Given the description of an element on the screen output the (x, y) to click on. 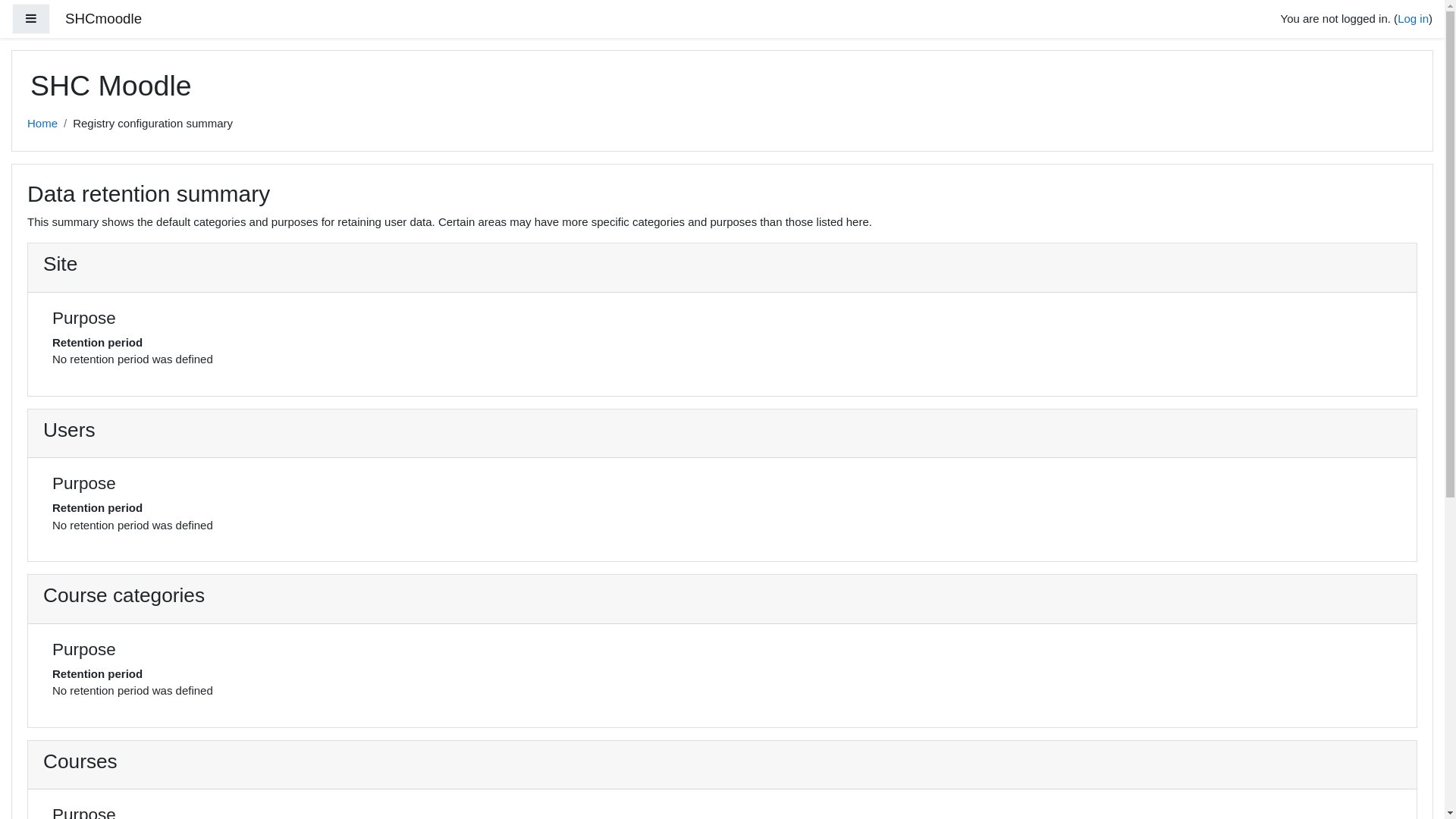
SHCmoodle Element type: text (103, 19)
Log in Element type: text (1412, 18)
Side panel Element type: text (31, 18)
Home Element type: text (42, 122)
